Given the description of an element on the screen output the (x, y) to click on. 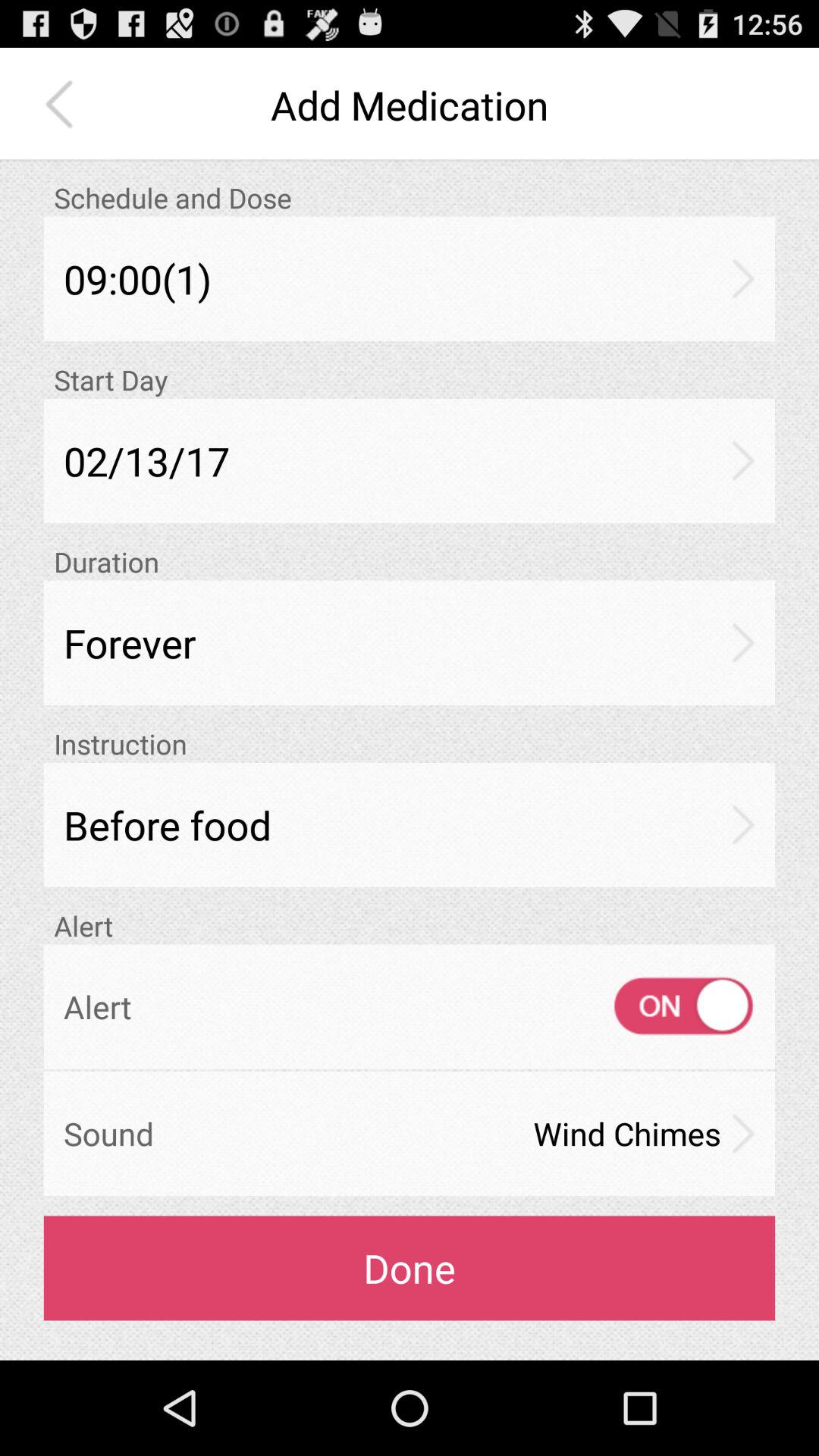
scroll until the before food item (409, 824)
